Given the description of an element on the screen output the (x, y) to click on. 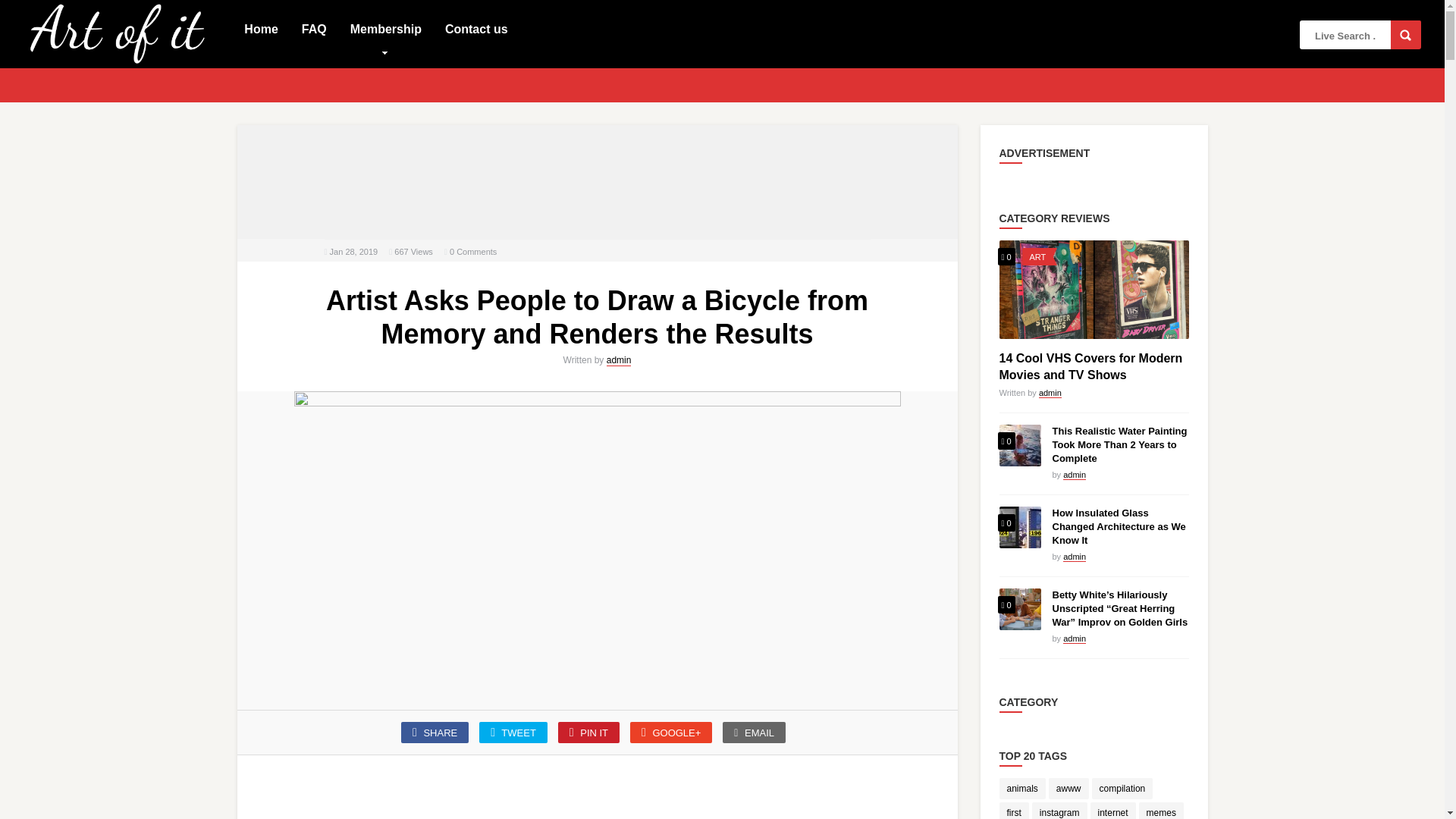
FAQ (314, 28)
admin (619, 360)
TWEET (513, 731)
PIN IT (588, 731)
Posts by admin (1050, 393)
Search (1405, 34)
Membership (385, 28)
SHARE (434, 731)
Posts by admin (1074, 474)
Search (1405, 34)
